Given the description of an element on the screen output the (x, y) to click on. 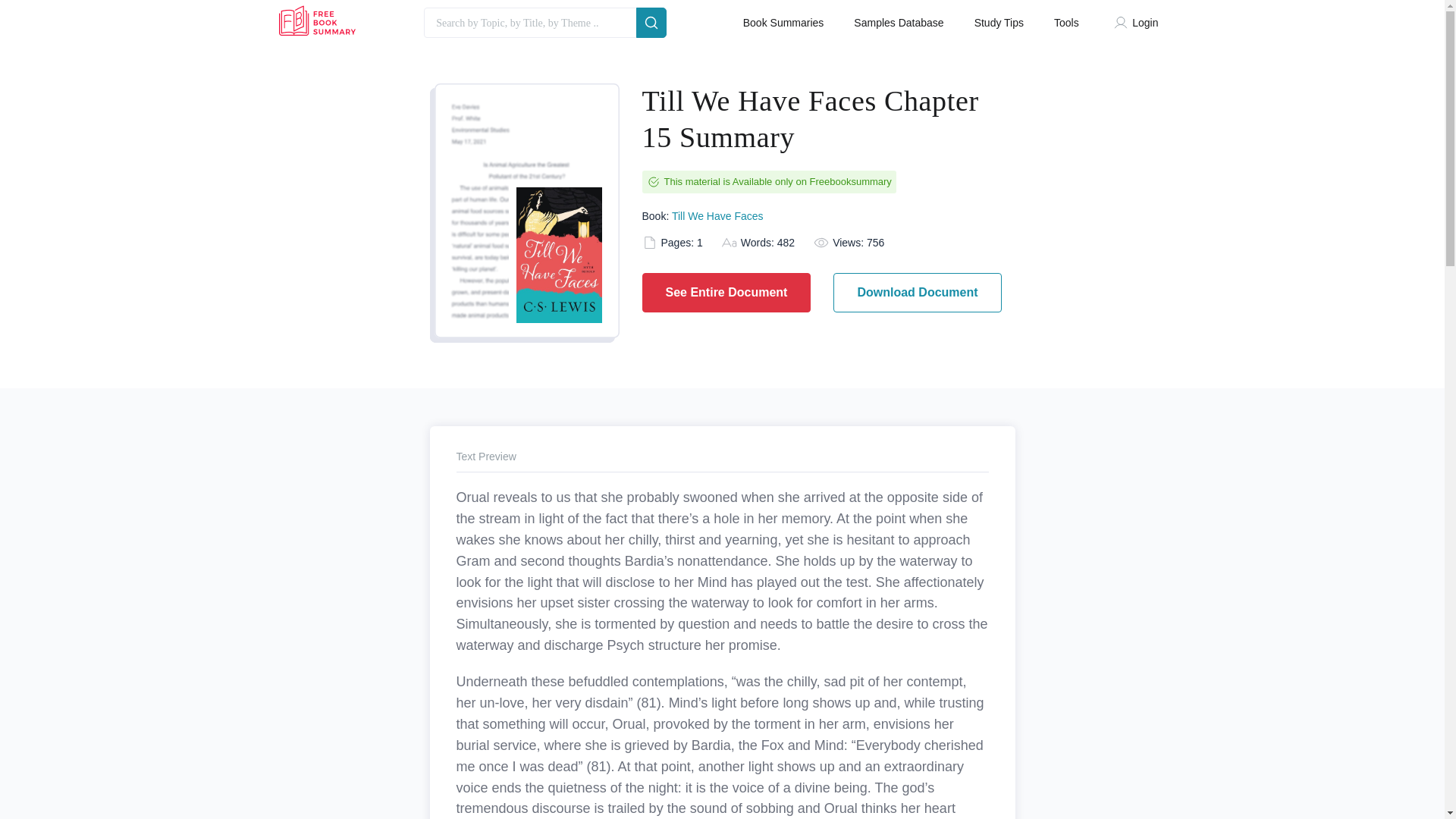
Samples Database (897, 22)
Study Tips (998, 22)
Book Summaries (783, 22)
Login (1139, 22)
Till We Have Faces (716, 215)
